Given the description of an element on the screen output the (x, y) to click on. 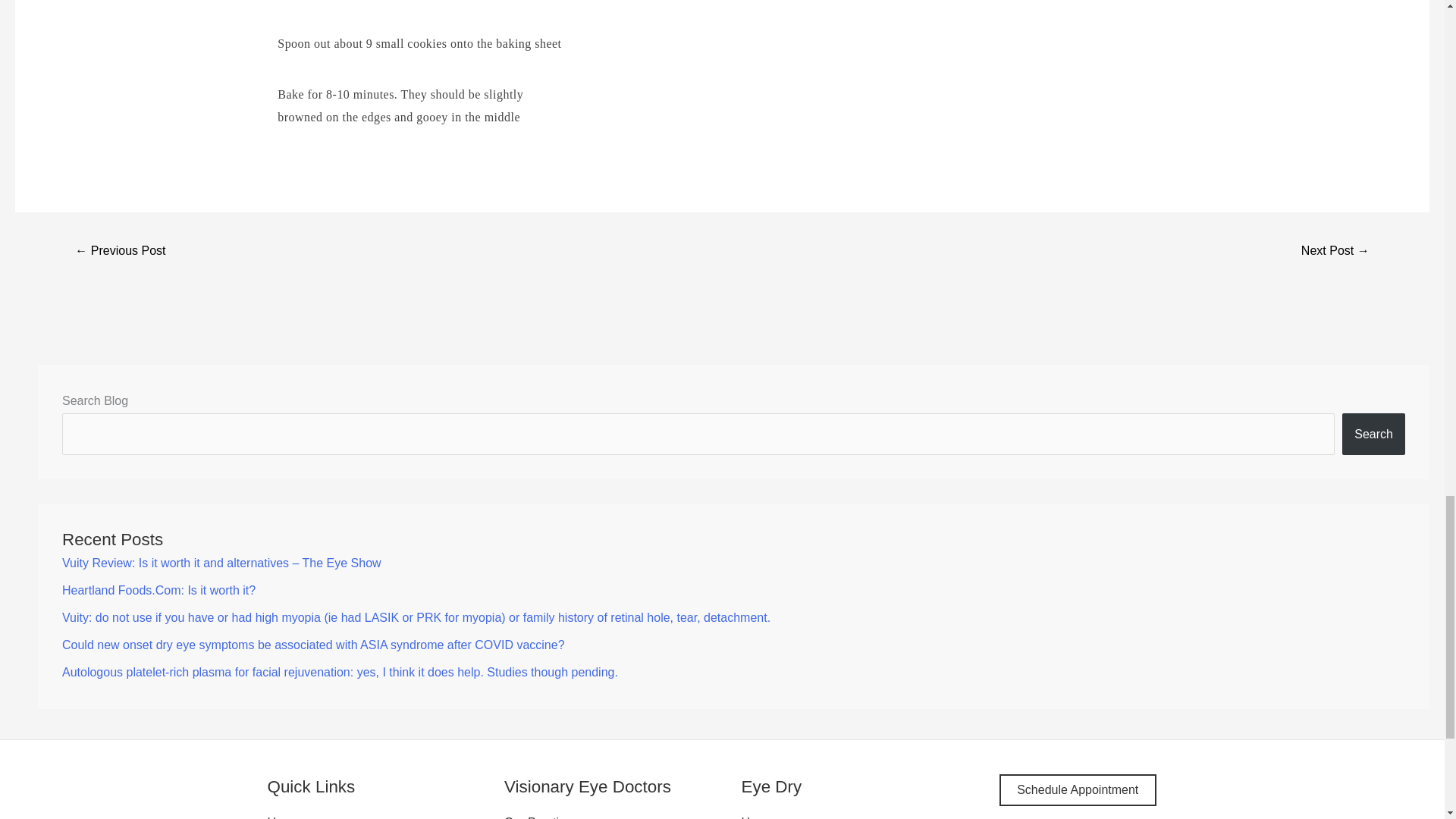
Our Practice (537, 817)
Heartland Foods.Com: Is it worth it? (159, 590)
Search (1373, 433)
How to avoid dementia (119, 252)
Homepage (770, 817)
Home (282, 817)
Quick Review of Dry Eye Treatments: (1334, 252)
